Given the description of an element on the screen output the (x, y) to click on. 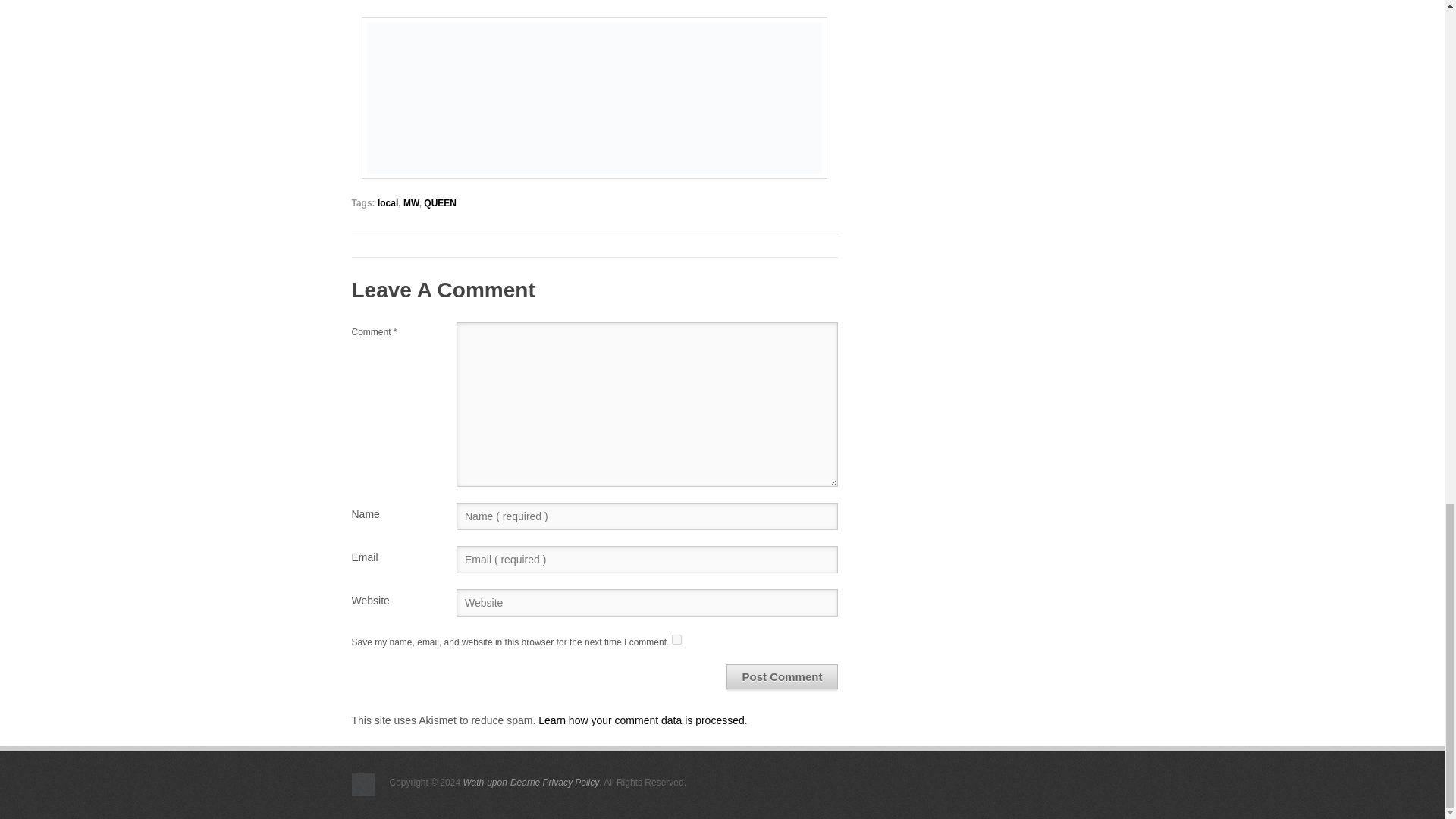
yes (676, 639)
Learn how your comment data is processed (641, 720)
Post Comment (782, 676)
Post Comment (782, 676)
MW (411, 203)
local (387, 203)
QUEEN (440, 203)
